Given the description of an element on the screen output the (x, y) to click on. 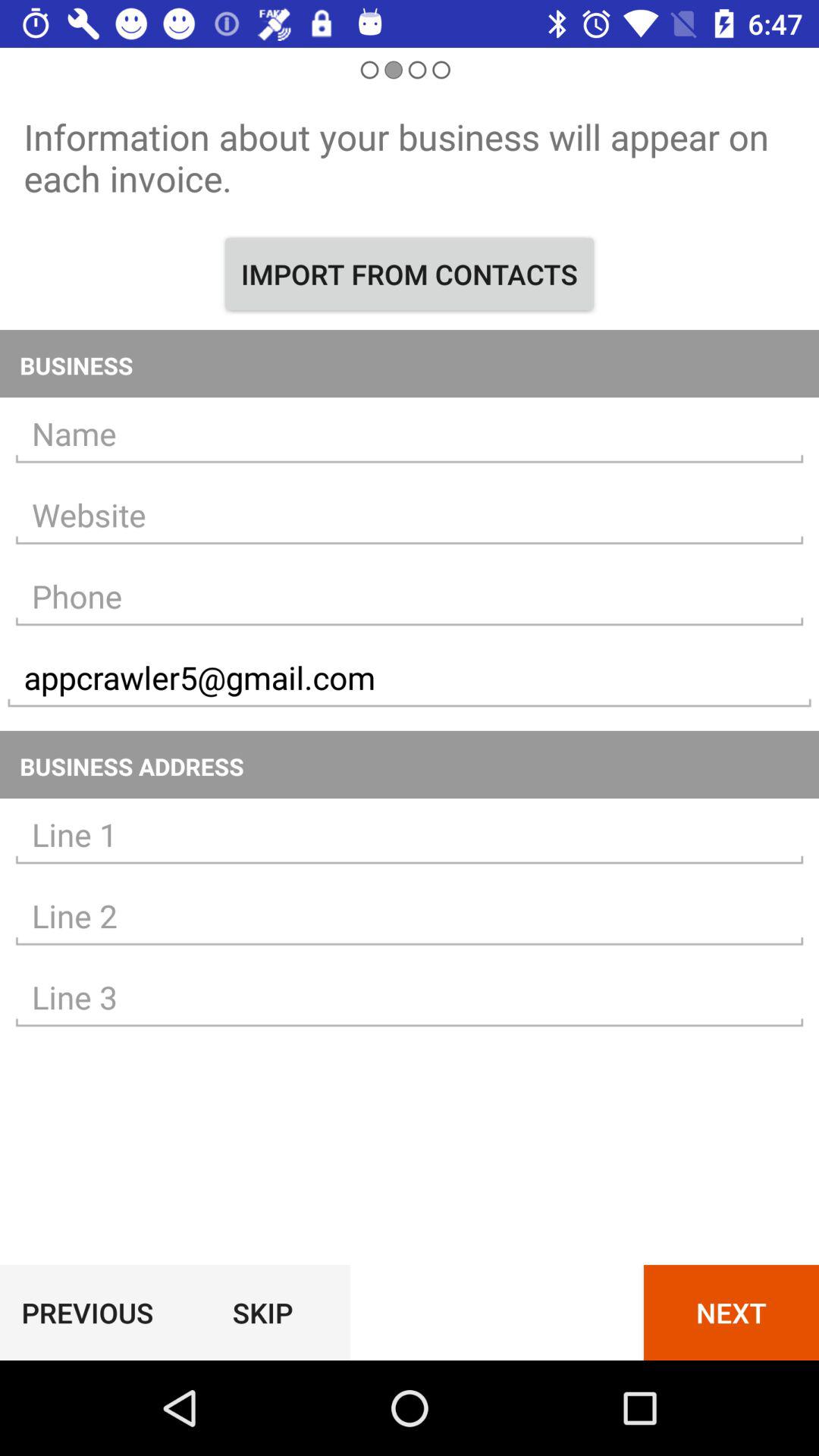
enter name (409, 433)
